Given the description of an element on the screen output the (x, y) to click on. 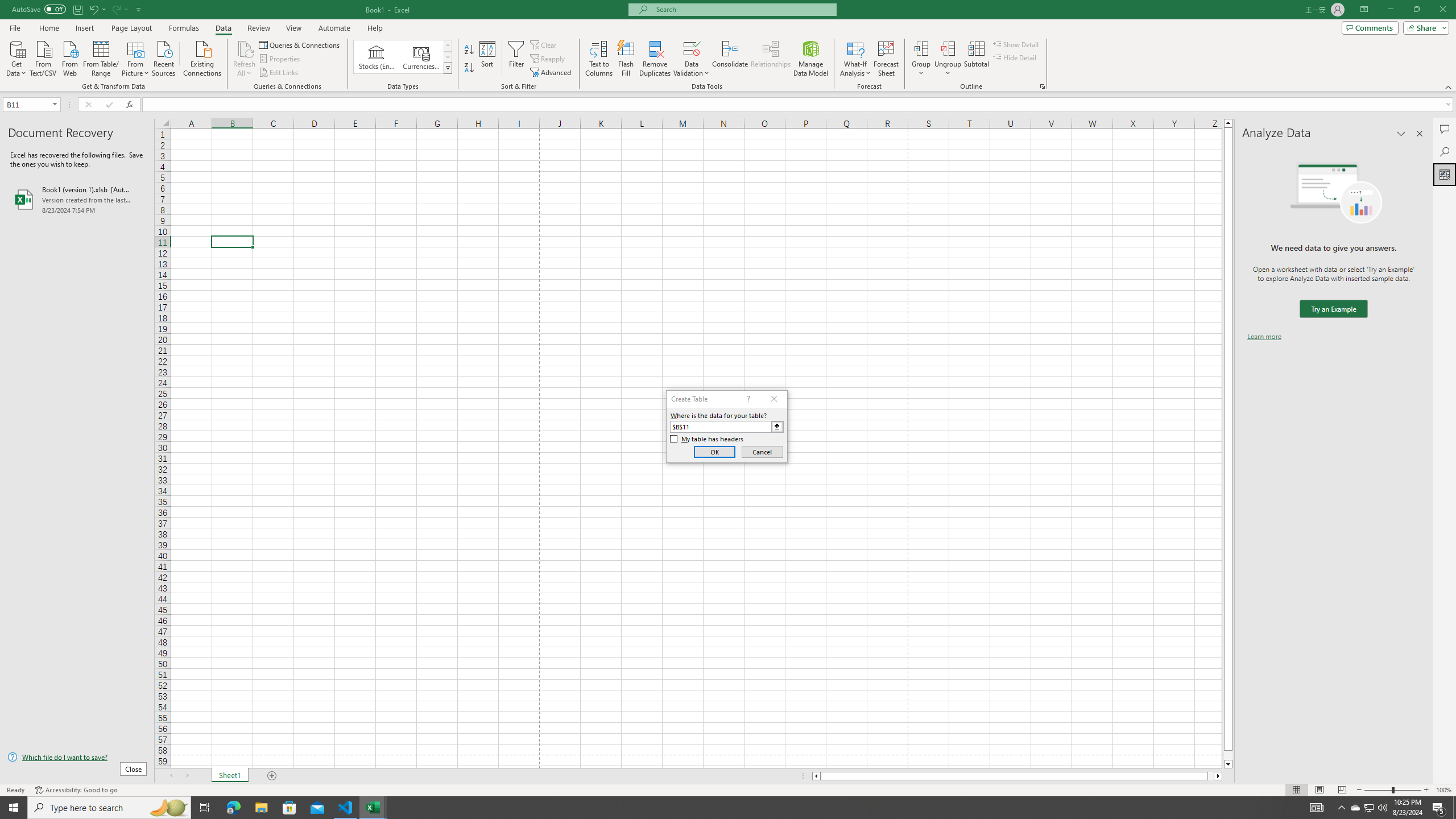
From Picture (135, 57)
Edit Links (279, 72)
